Given the description of an element on the screen output the (x, y) to click on. 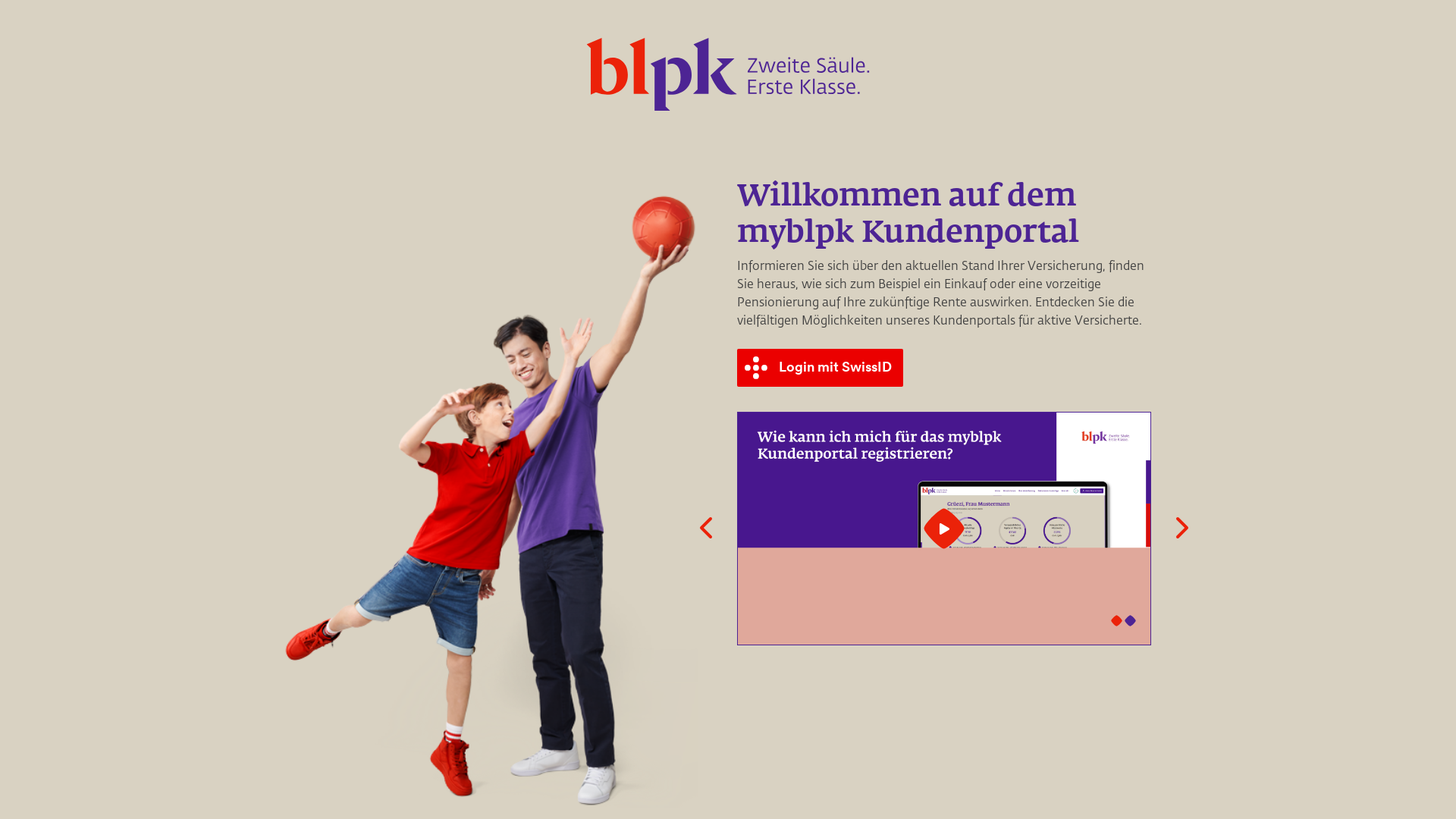
Login mit SwissID Element type: text (822, 367)
